Given the description of an element on the screen output the (x, y) to click on. 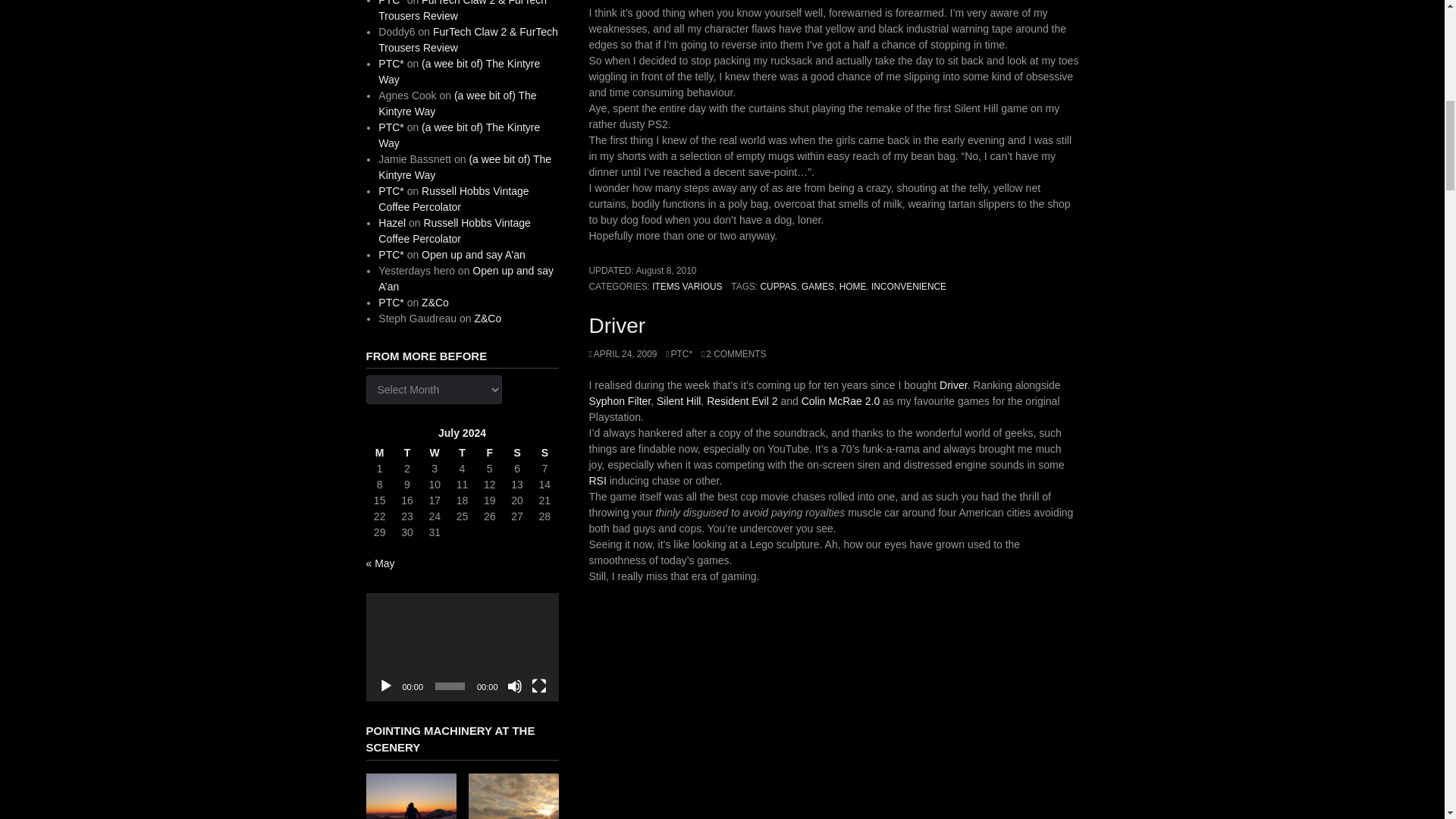
Syphon Filter (619, 400)
Mute (513, 685)
CUPPAS (778, 286)
Fullscreen (538, 685)
Monday (379, 453)
Driver (616, 325)
Wednesday (434, 453)
Friday (489, 453)
INCONVENIENCE (908, 286)
ITEMS VARIOUS (687, 286)
Tuesday (406, 453)
Sunday (544, 453)
Driver (953, 385)
Saturday (517, 453)
GAMES (818, 286)
